Given the description of an element on the screen output the (x, y) to click on. 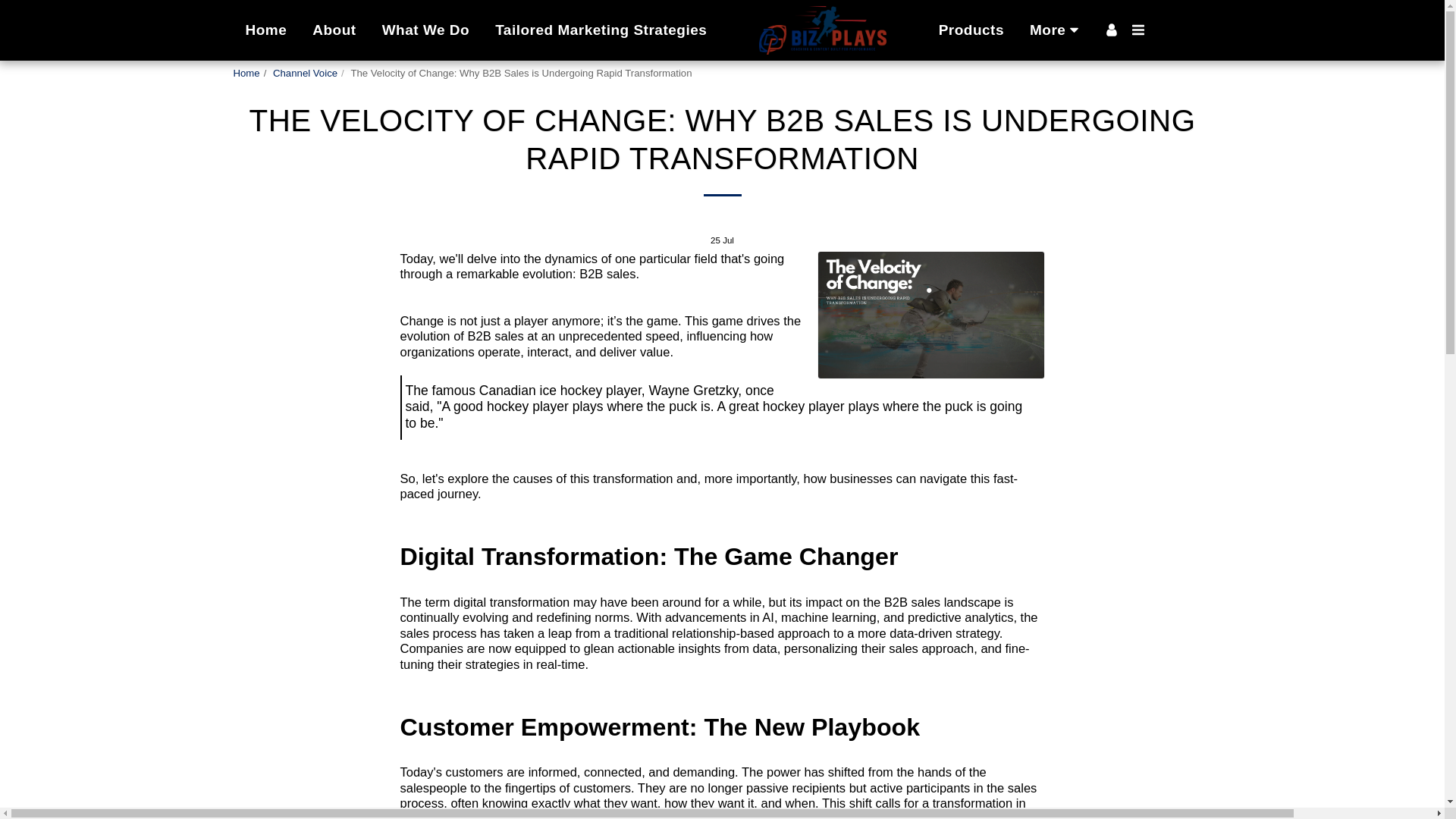
About (333, 29)
Tailored Marketing Strategies (600, 29)
Channel Voice (305, 72)
Products (970, 29)
What We Do (425, 29)
Home (265, 29)
More   (1056, 29)
Home (246, 72)
